Given the description of an element on the screen output the (x, y) to click on. 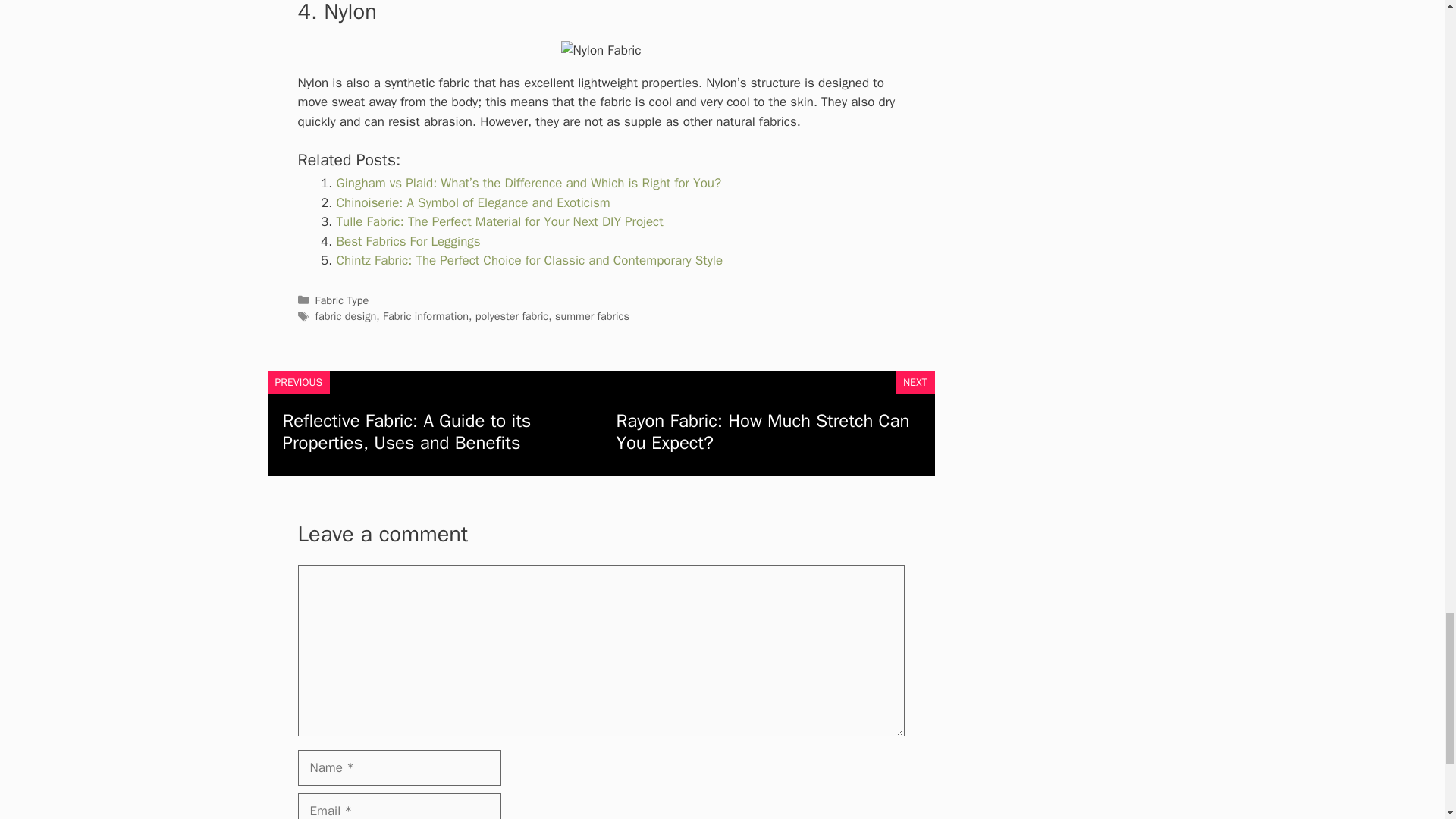
Best Fabrics For Leggings (408, 241)
Tulle Fabric: The Perfect Material for Your Next DIY Project (499, 221)
Rayon Fabric: How Much Stretch Can You Expect? (761, 431)
Fabric Type (342, 300)
fabric design (346, 315)
Tulle Fabric: The Perfect Material for Your Next DIY Project (499, 221)
Chinoiserie: A Symbol of Elegance and Exoticism (473, 202)
Chinoiserie: A Symbol of Elegance and Exoticism (473, 202)
polyester fabric (512, 315)
Fabric information (425, 315)
summer fabrics (591, 315)
Best Fabrics For Leggings (408, 241)
